Given the description of an element on the screen output the (x, y) to click on. 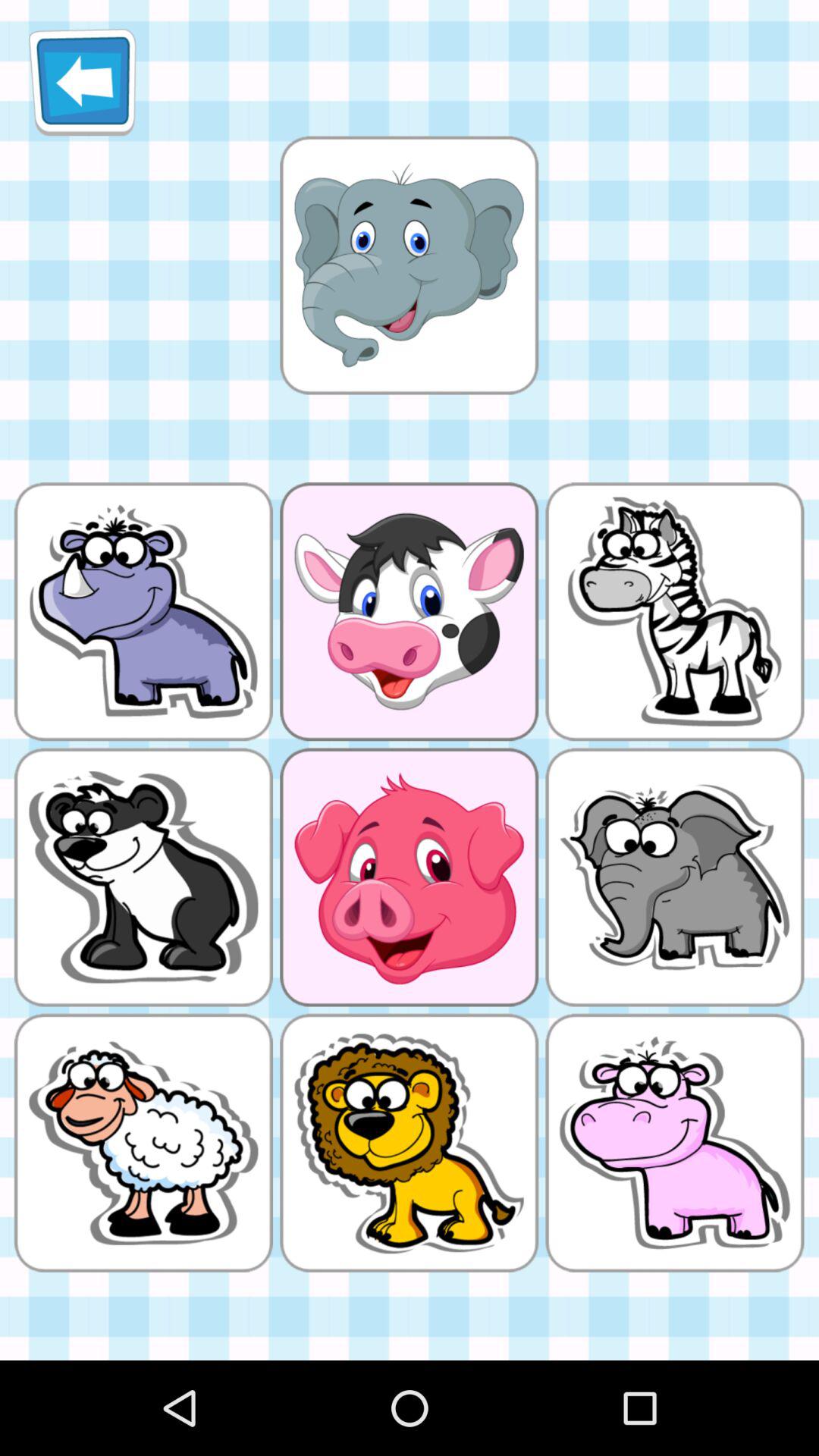
elephant image (409, 264)
